Given the description of an element on the screen output the (x, y) to click on. 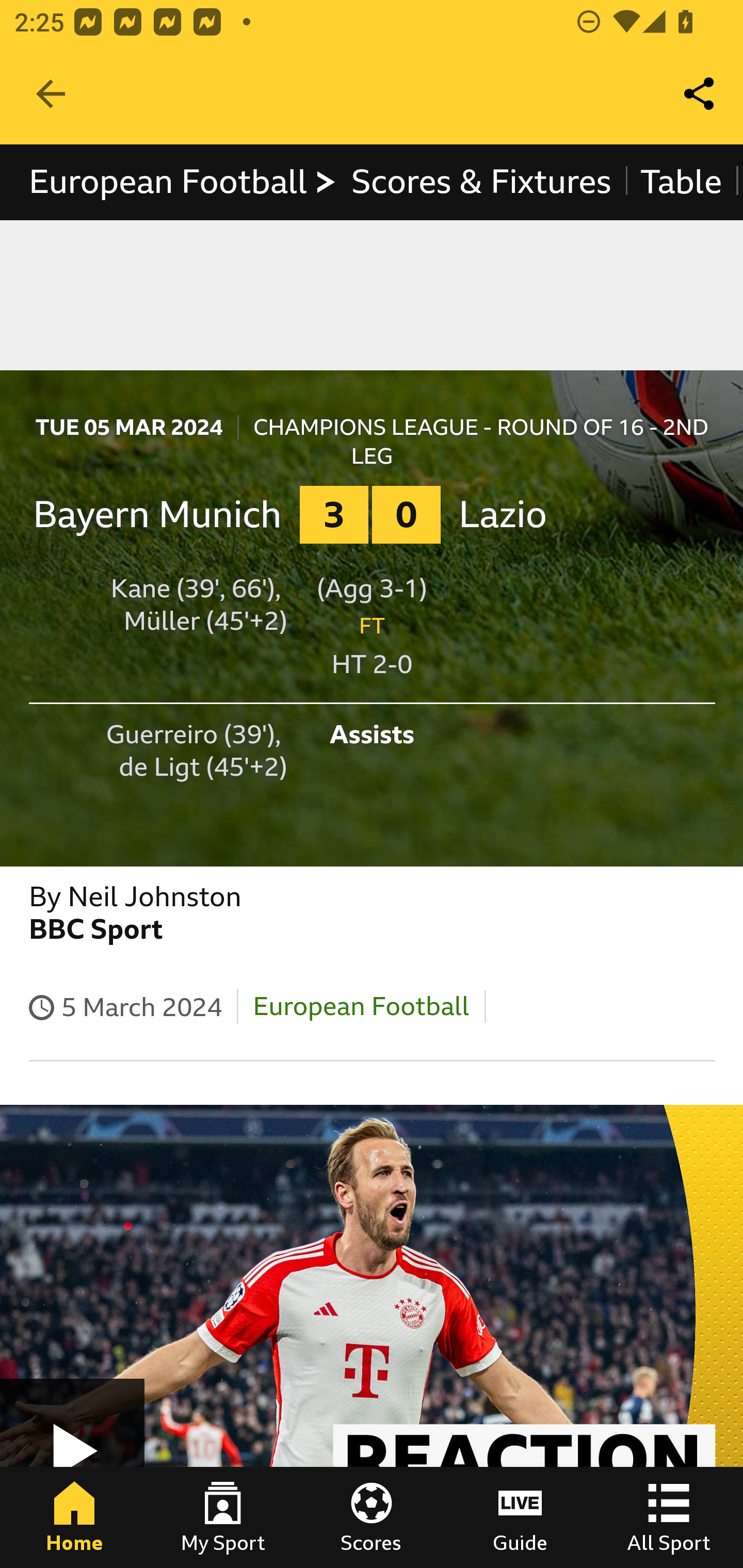
Navigate up (50, 93)
Share (699, 93)
European Football  (182, 181)
Scores & Fixtures (480, 181)
Table (681, 181)
European Football (361, 1005)
Play  (371, 1315)
My Sport (222, 1517)
Scores (371, 1517)
Guide (519, 1517)
All Sport (668, 1517)
